Given the description of an element on the screen output the (x, y) to click on. 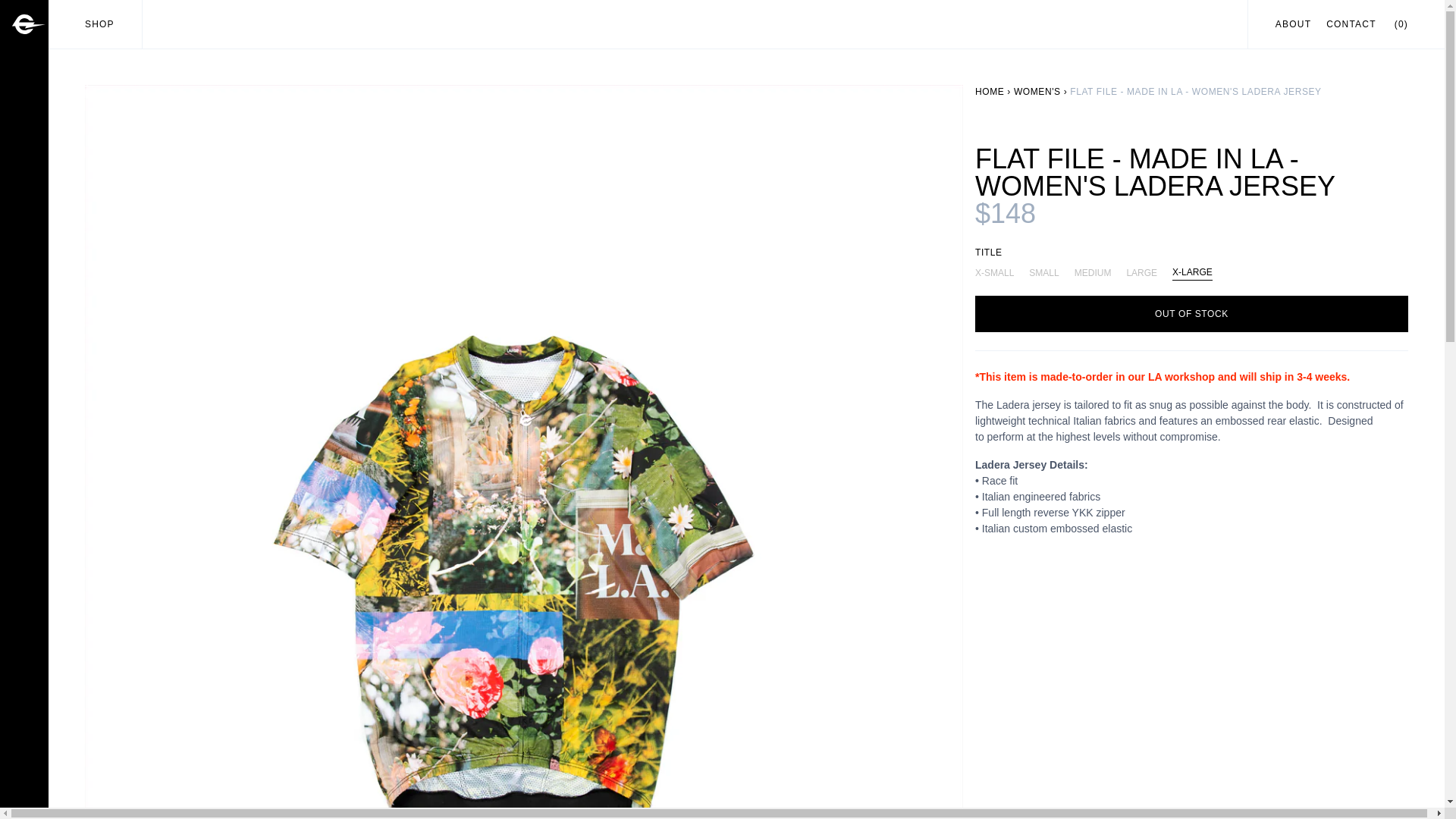
Back to the home page (989, 91)
HOME (989, 91)
WOMEN'S (1037, 91)
OUT OF STOCK (1191, 313)
SHOP (99, 24)
CONTACT (1350, 24)
